Given the description of an element on the screen output the (x, y) to click on. 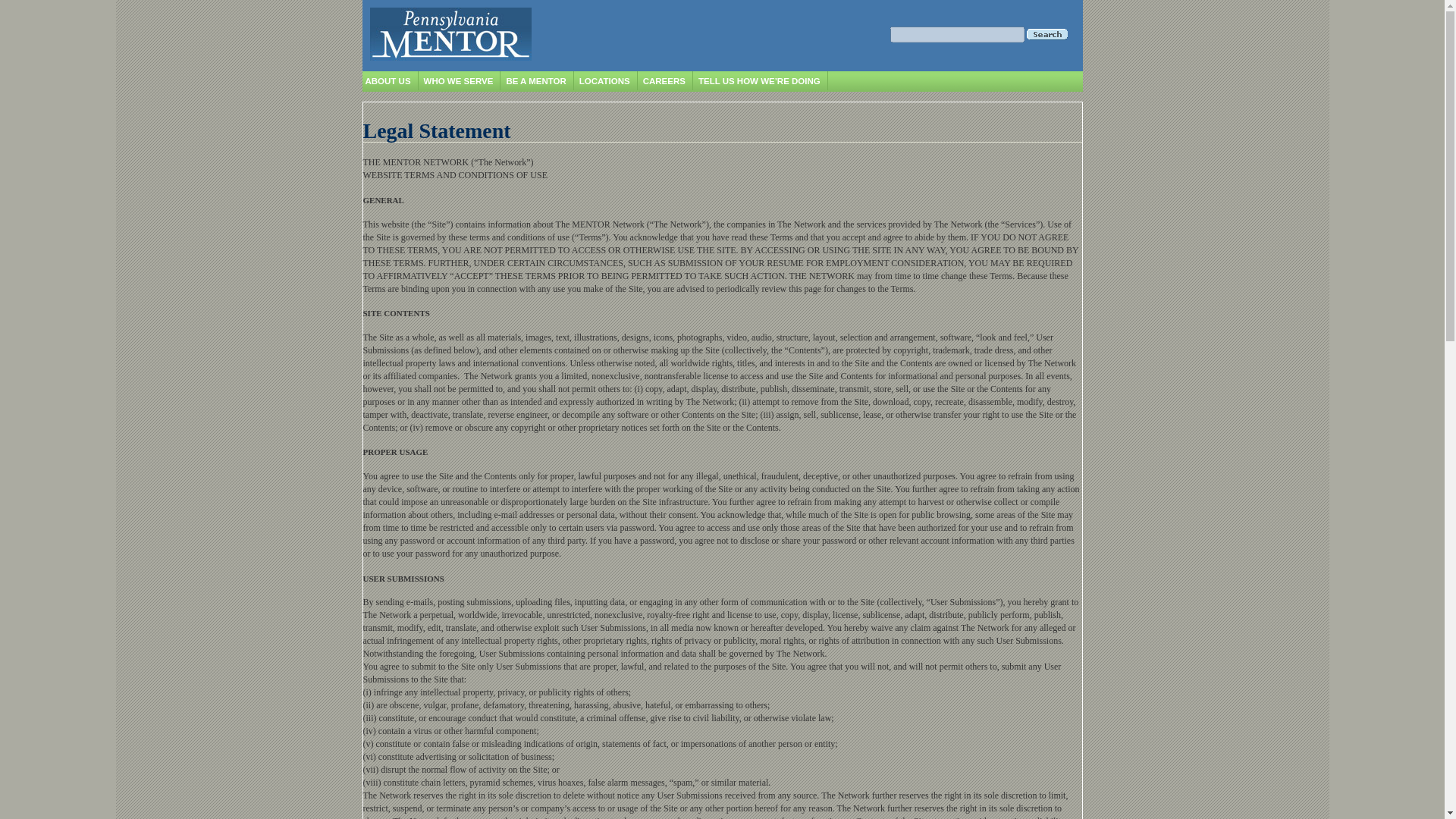
WHO WE SERVE (458, 81)
ABOUT US (387, 81)
LOCATIONS (604, 81)
CAREERS (664, 81)
Intensive Behavioral Health Services Jobs (706, 104)
BE A MENTOR (535, 81)
